Given the description of an element on the screen output the (x, y) to click on. 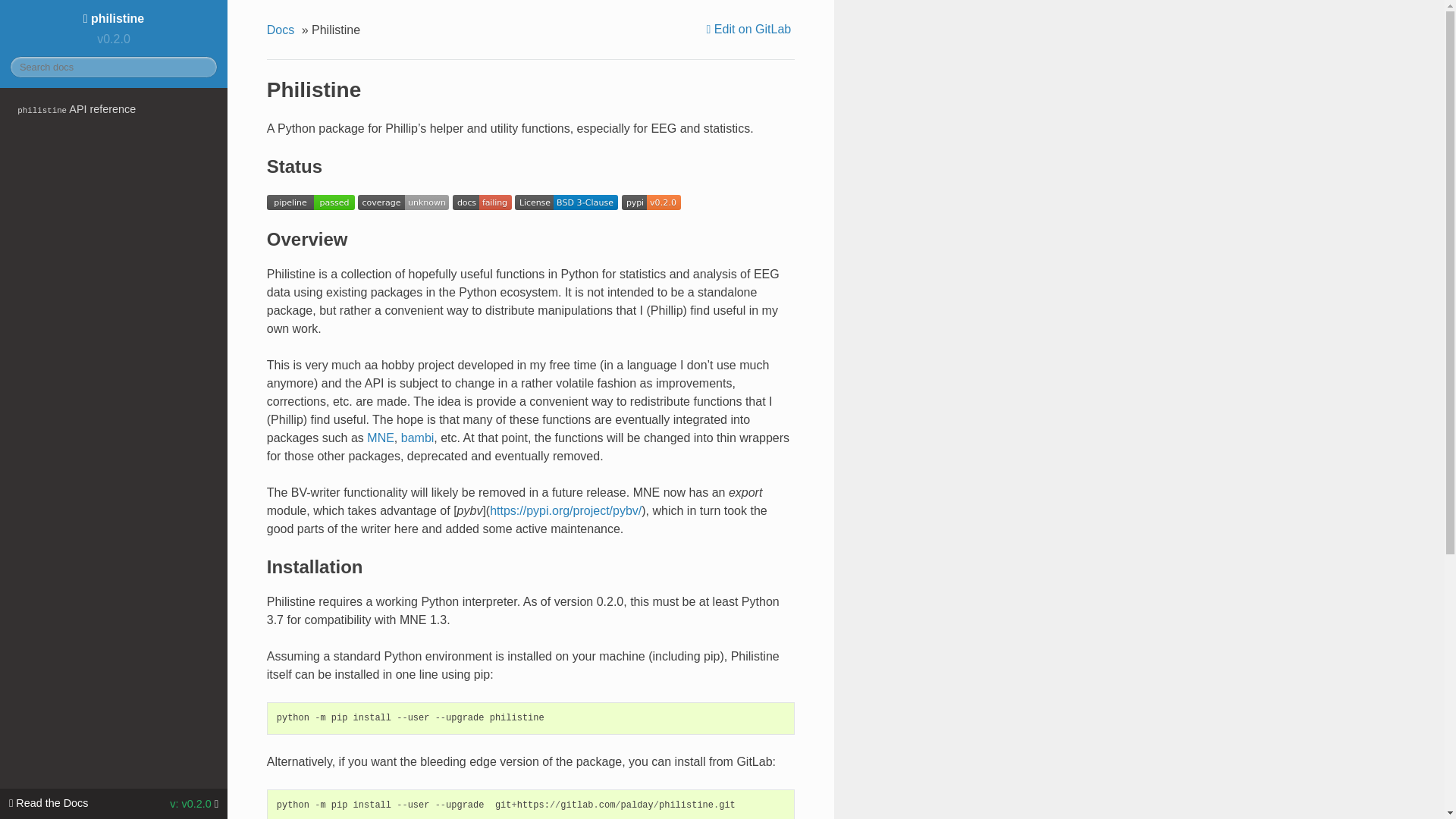
philistine (113, 18)
Docs (282, 29)
MNE (380, 437)
Edit on GitLab (750, 29)
bambi (417, 437)
philistine API reference (113, 109)
